Given the description of an element on the screen output the (x, y) to click on. 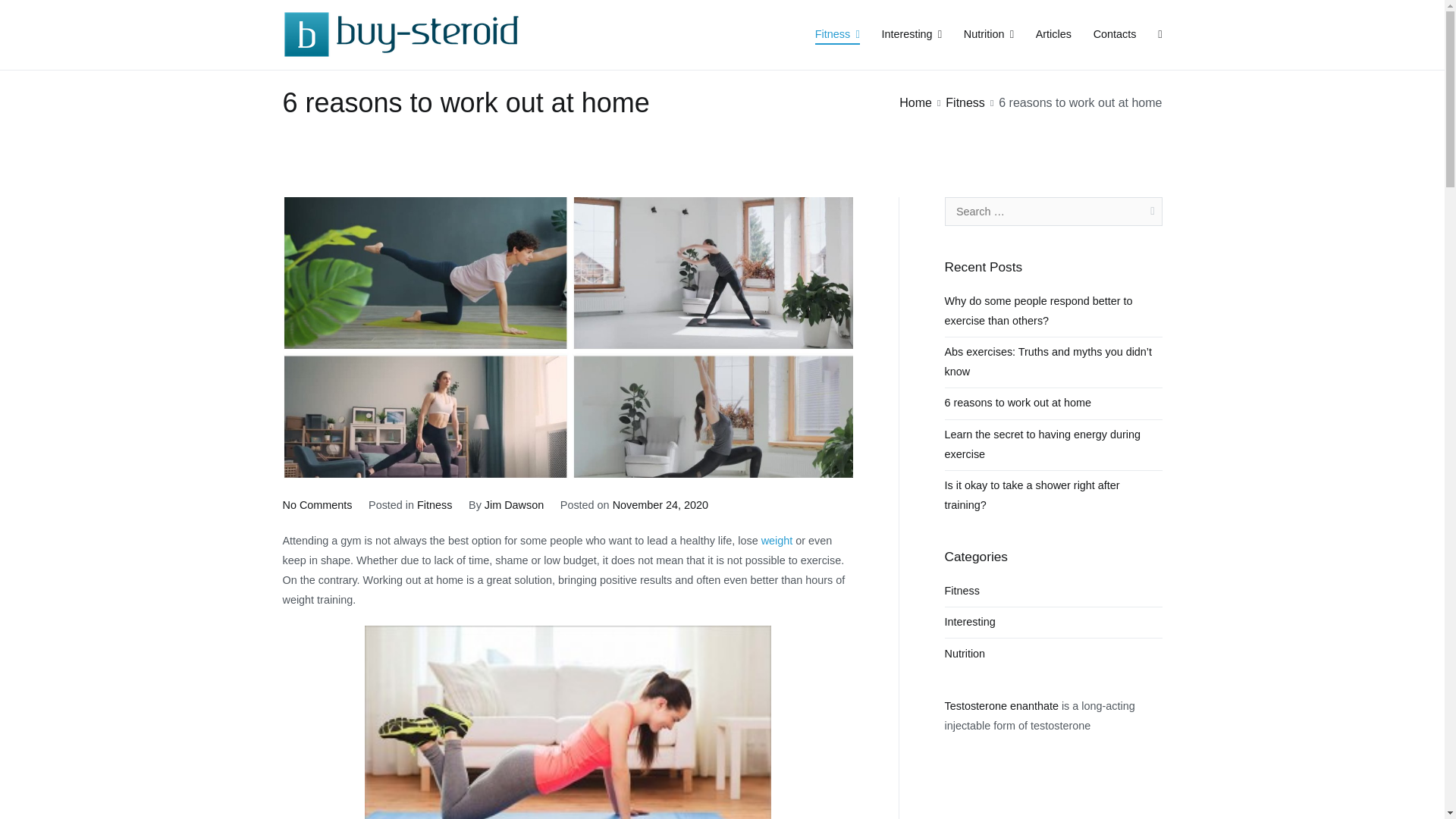
Articles (1053, 35)
Fitness (837, 35)
Nutrition (988, 35)
Contacts (1115, 35)
Fitness (317, 504)
Search (964, 102)
Jim Dawson (28, 13)
Fitness (513, 504)
Interesting (433, 504)
November 24, 2020 (911, 35)
weight (659, 504)
Home (777, 540)
